Given the description of an element on the screen output the (x, y) to click on. 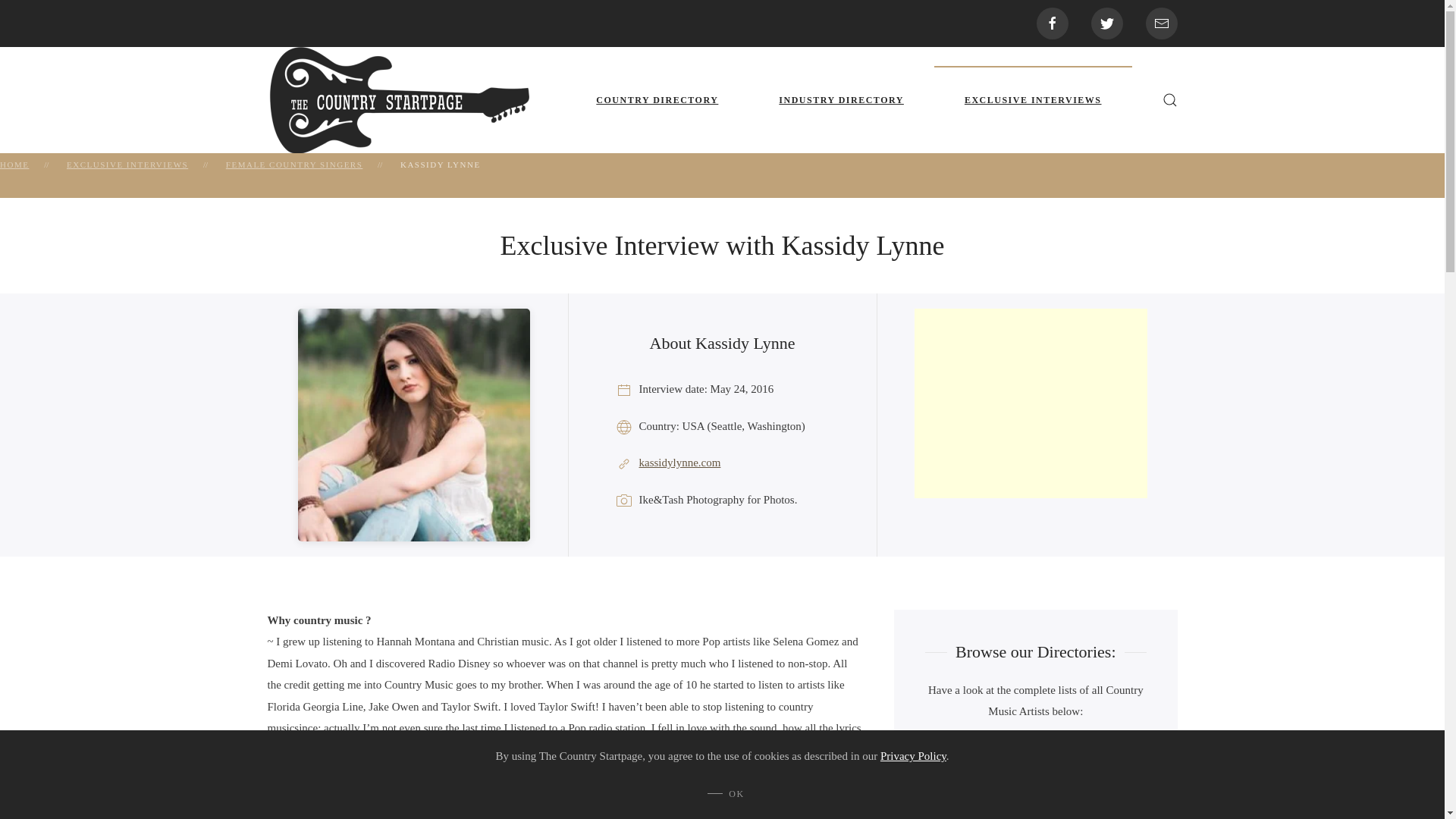
List of All Male Country Singers (1034, 752)
COUNTRY DIRECTORY (657, 100)
List of All Female Country Singers (1034, 798)
Advertisement (1030, 402)
About Kassidy Lynne (721, 343)
